Given the description of an element on the screen output the (x, y) to click on. 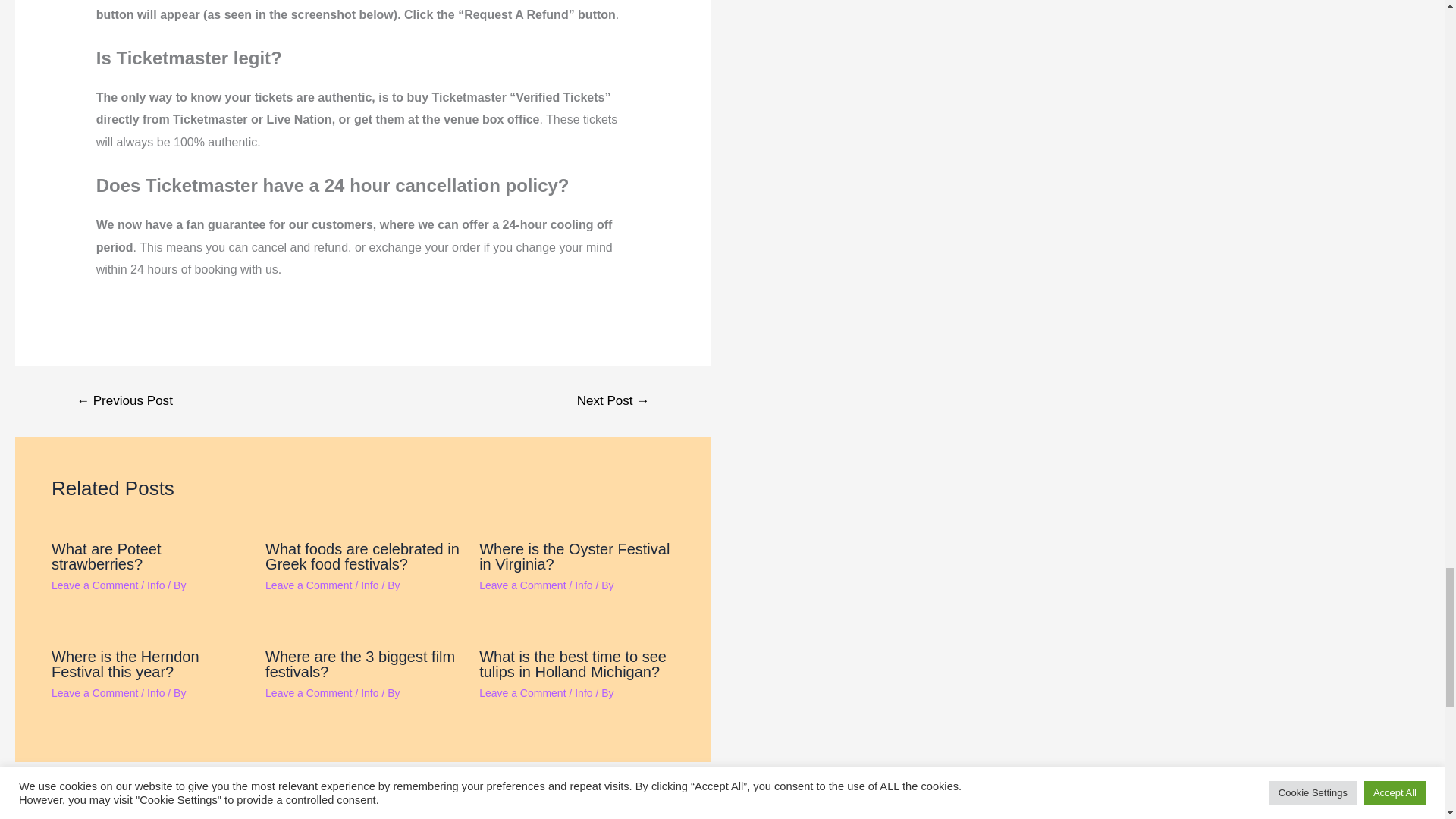
What foods are celebrated in Greek food festivals? (362, 556)
Leave a Comment (94, 585)
Info (155, 585)
What are Poteet strawberries? (105, 556)
